Given the description of an element on the screen output the (x, y) to click on. 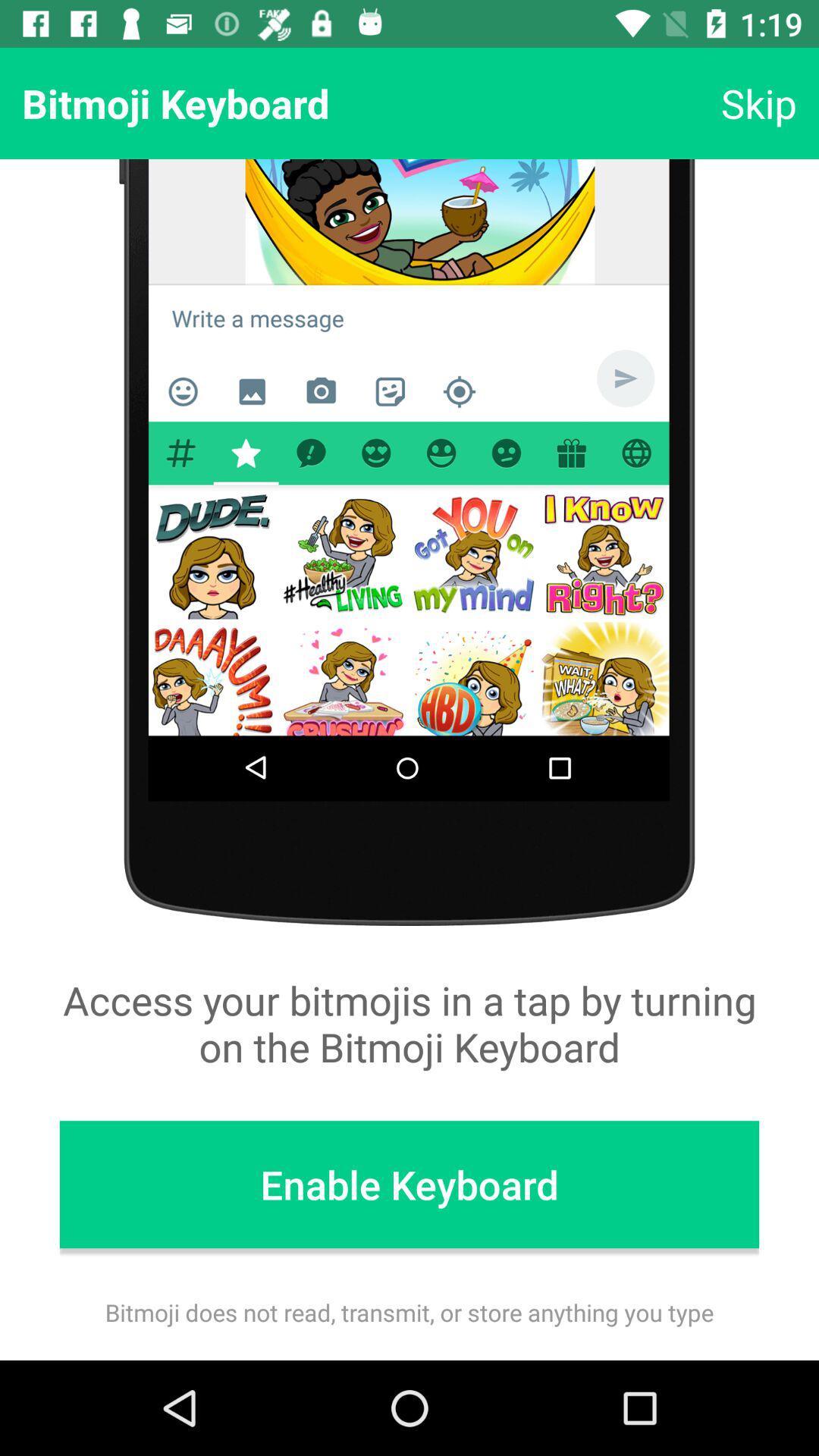
select icon at the top right corner (758, 102)
